Given the description of an element on the screen output the (x, y) to click on. 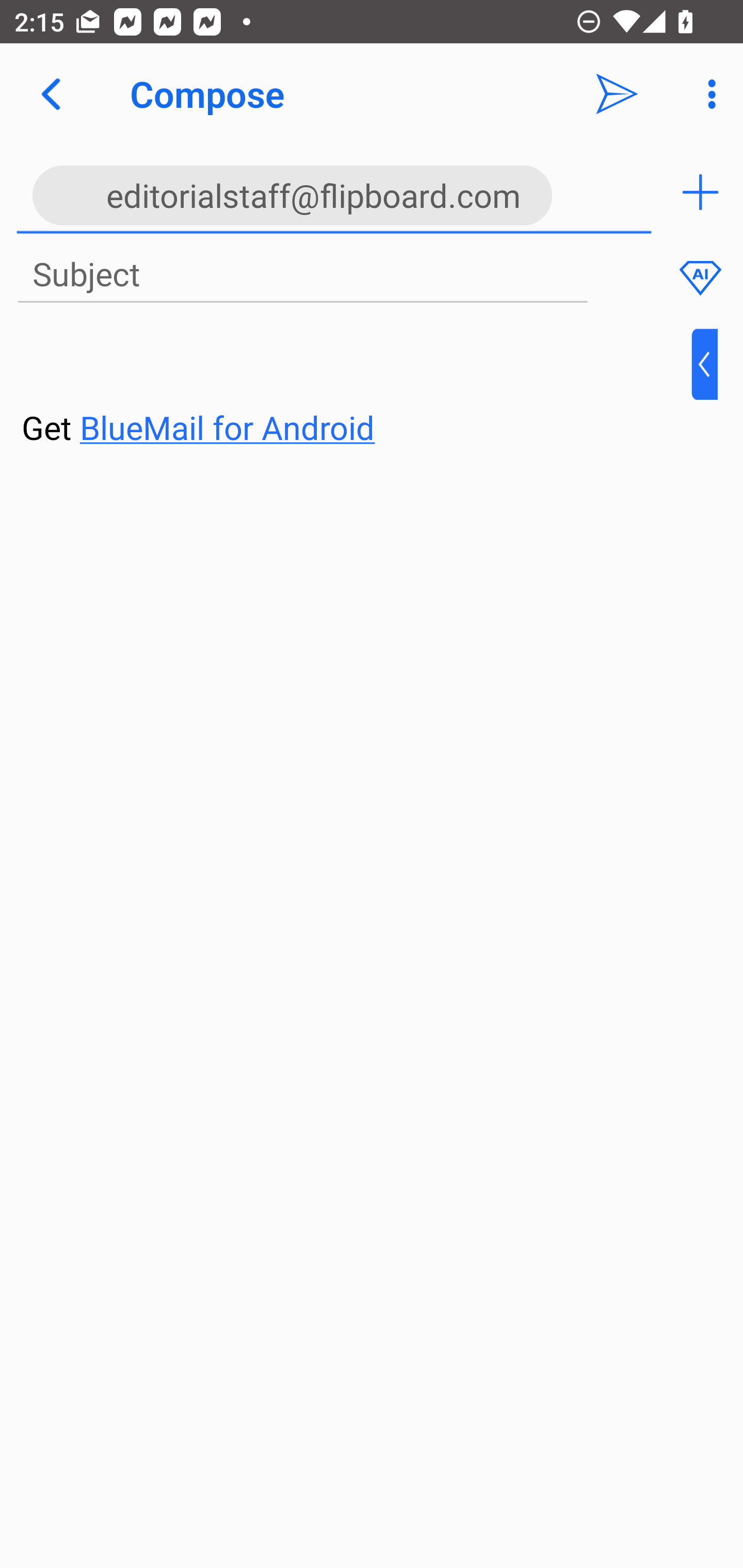
Navigate up (50, 93)
Send (616, 93)
More Options (706, 93)
<editorialstaff@flipboard.com>,  (334, 191)
Add recipient (To) (699, 191)
Subject (302, 274)


⁣Get BlueMail for Android ​ (355, 390)
